Given the description of an element on the screen output the (x, y) to click on. 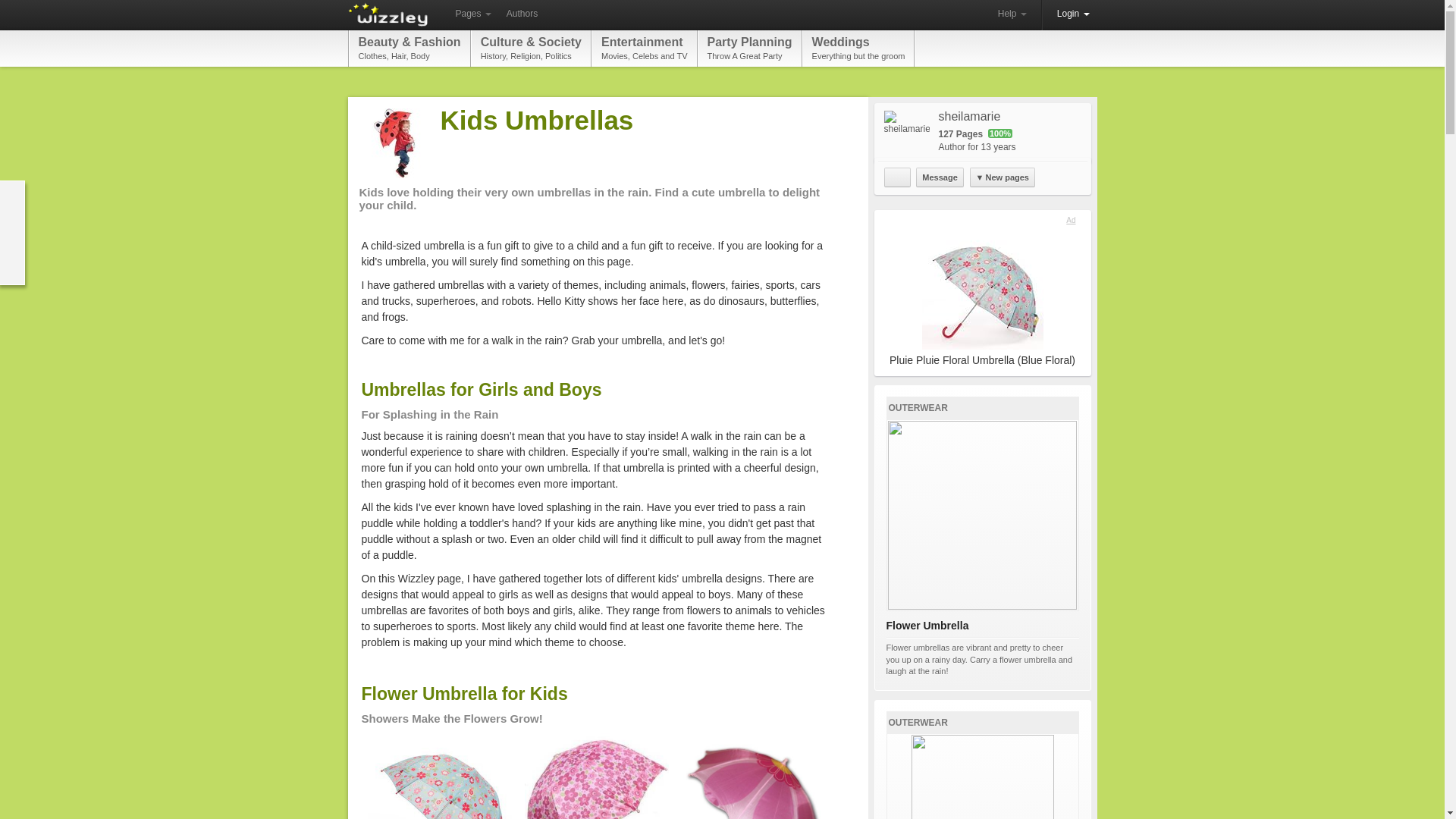
Login (1073, 14)
Help (749, 48)
Follow (858, 48)
Authors (1011, 14)
Pages (897, 177)
Excellent author (521, 14)
